Given the description of an element on the screen output the (x, y) to click on. 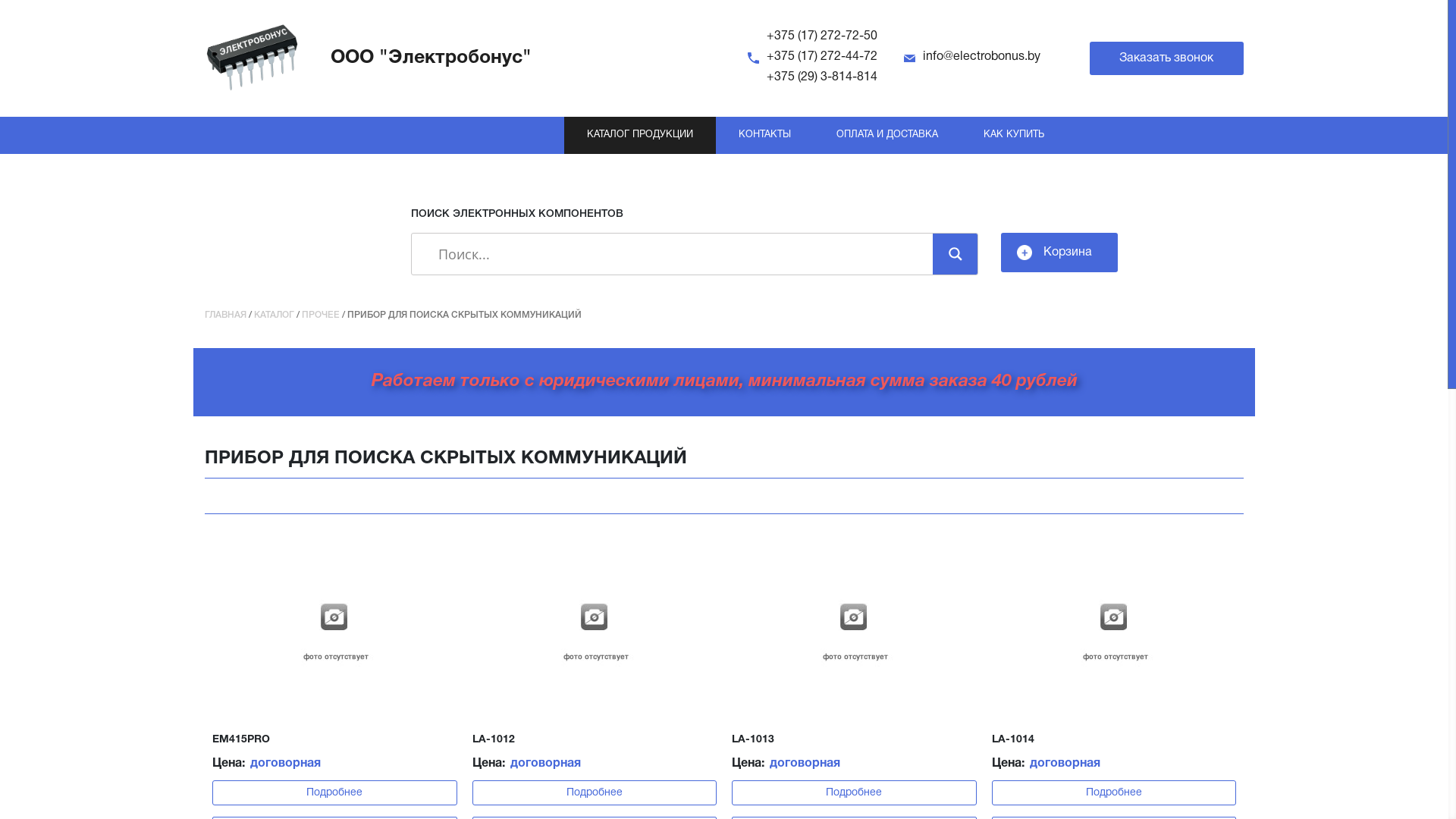
info@electrobonus.by Element type: text (981, 56)
+375 (29) 3-814-814 Element type: text (821, 77)
+375 (17) 272-44-72 Element type: text (821, 56)
+375 (17) 272-72-50 Element type: text (821, 36)
